Given the description of an element on the screen output the (x, y) to click on. 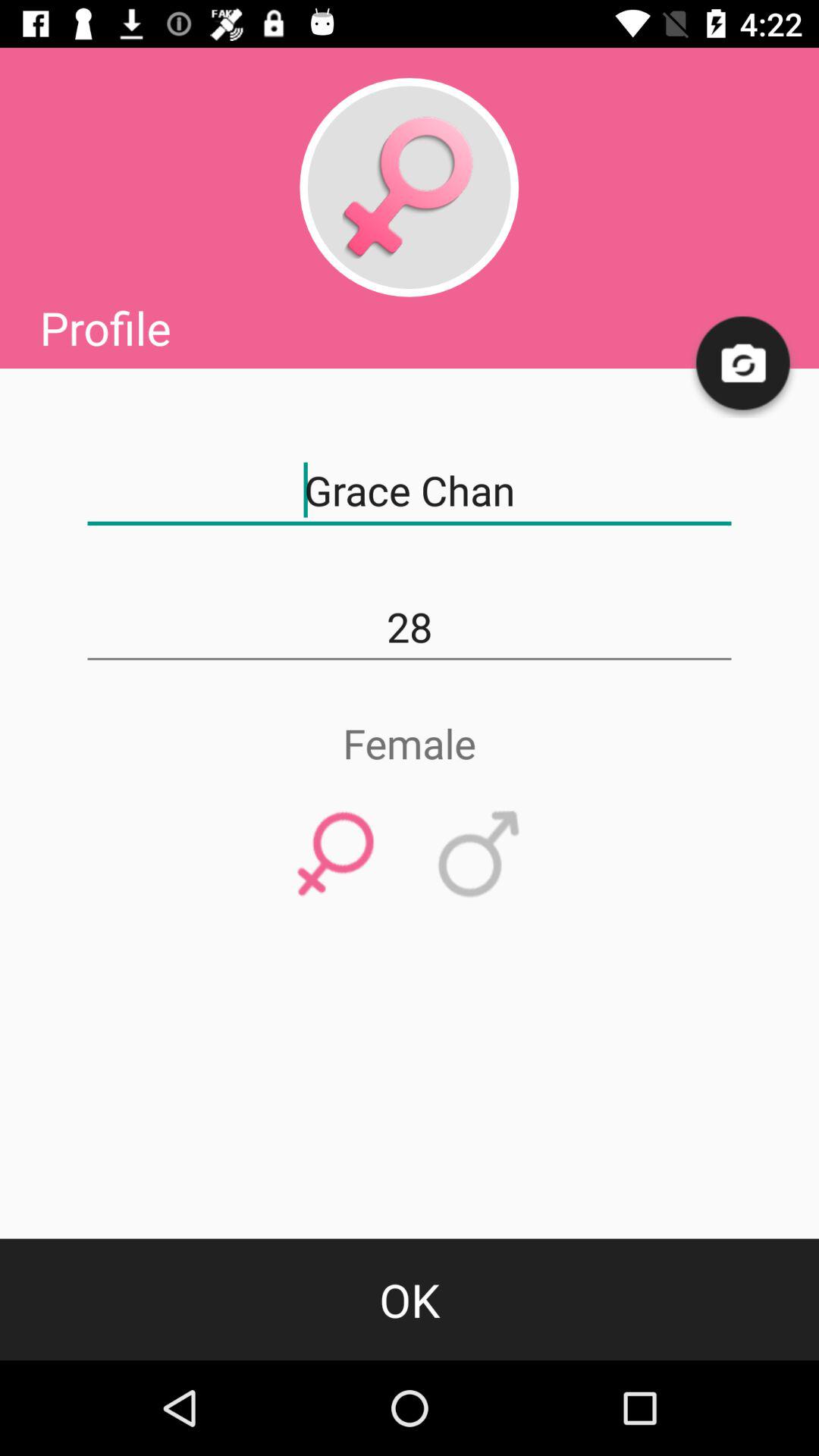
scroll to grace chan (409, 490)
